Given the description of an element on the screen output the (x, y) to click on. 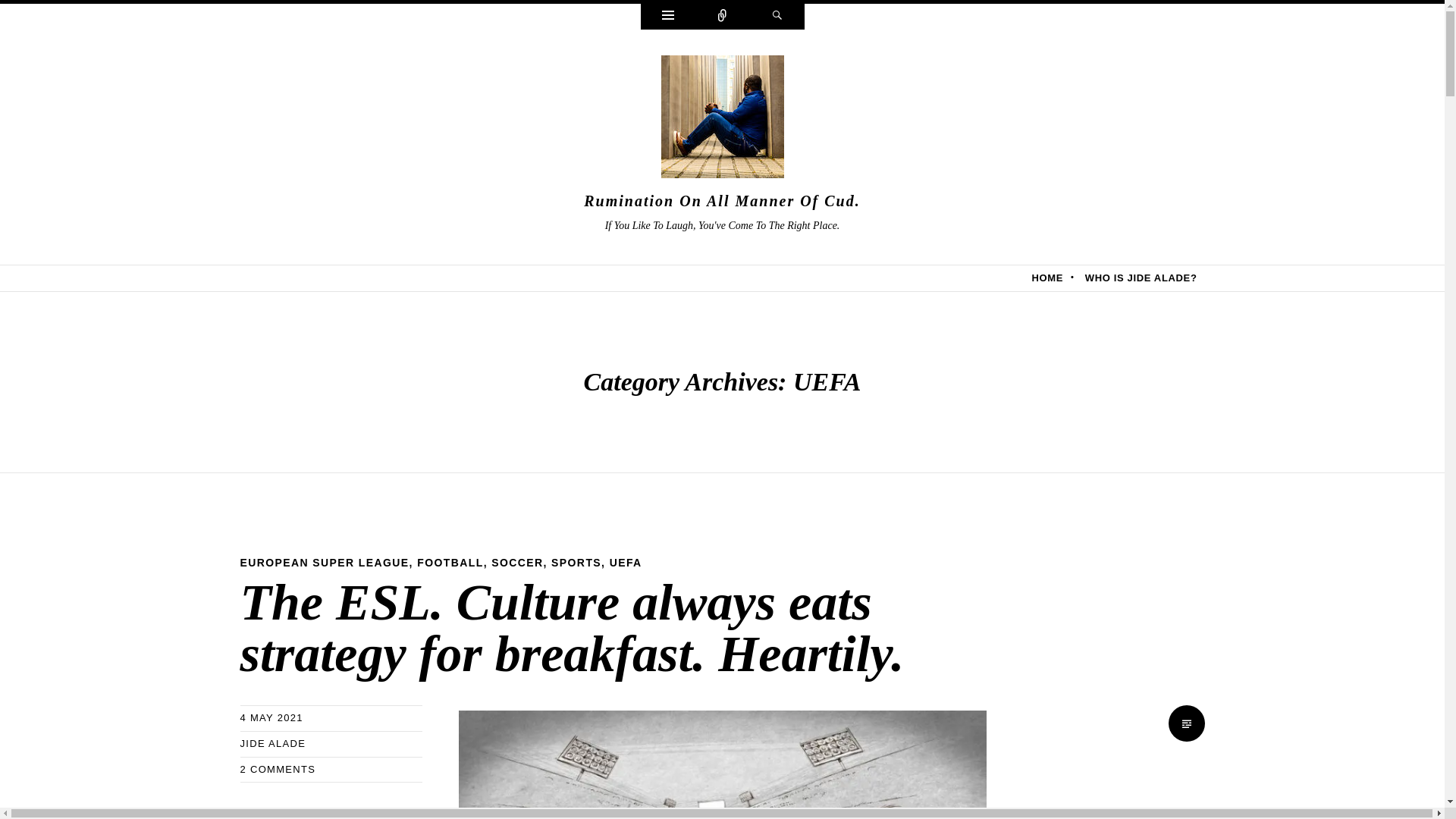
UEFA (626, 562)
JIDE ALADE (272, 743)
Connect (721, 16)
FOOTBALL (449, 562)
EUROPEAN SUPER LEAGUE (324, 562)
4 MAY 2021 (271, 717)
Connect (721, 16)
Search (776, 16)
WHO IS JIDE ALADE? (1141, 278)
Rumination On All Manner Of Cud. (721, 200)
View all posts by Jide Alade (272, 743)
13:24 (271, 717)
Search (776, 16)
SKIP TO CONTENT (56, 277)
2 COMMENTS (277, 767)
